Given the description of an element on the screen output the (x, y) to click on. 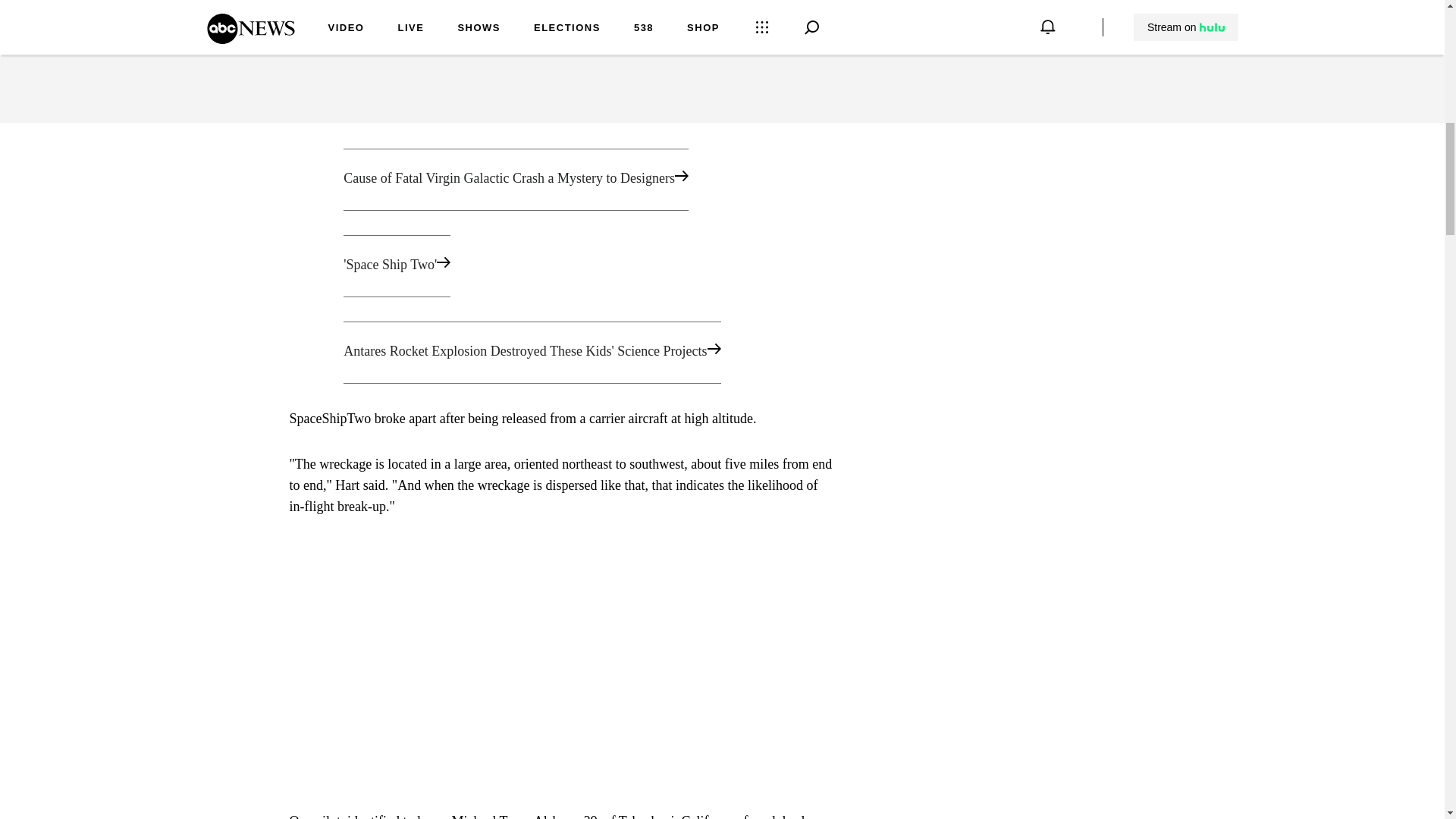
'Space Ship Two' (560, 266)
Cause of Fatal Virgin Galactic Crash a Mystery to Designers (560, 179)
